Given the description of an element on the screen output the (x, y) to click on. 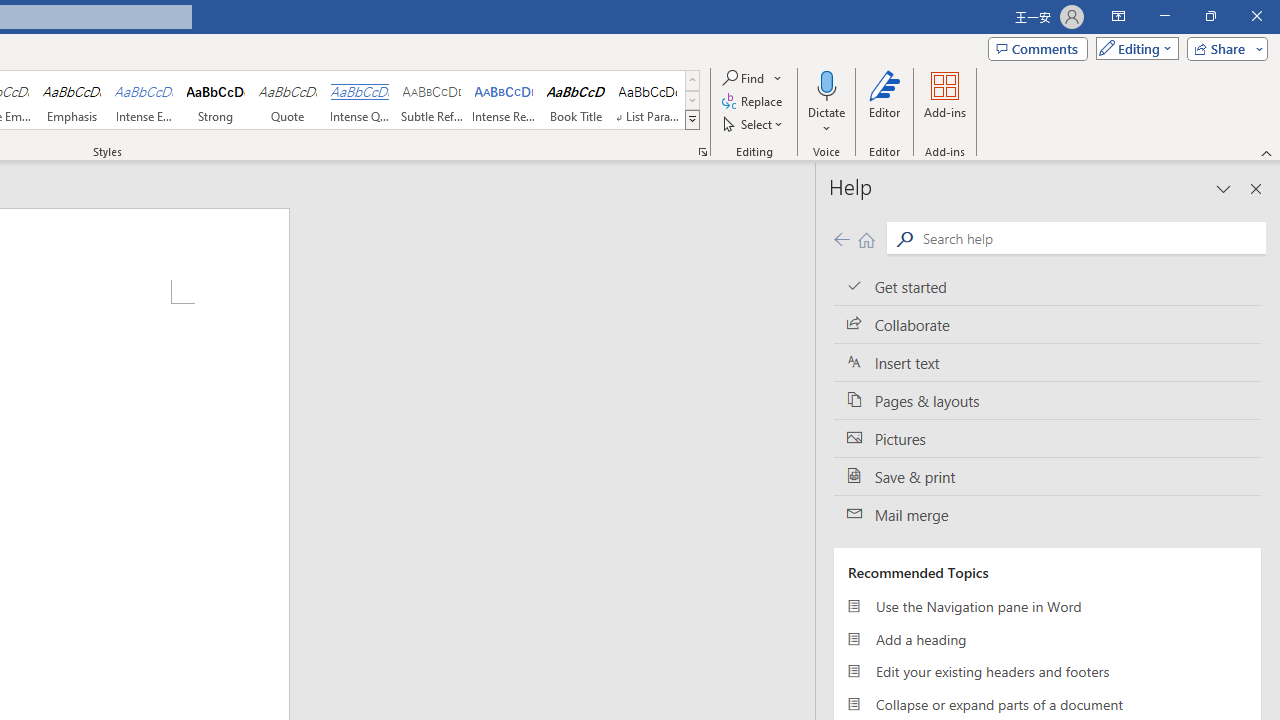
Ribbon Display Options (1118, 16)
Pages & layouts (1047, 400)
Styles... (702, 151)
Styles (692, 120)
Pictures (1047, 438)
Select (754, 124)
Edit your existing headers and footers (1047, 672)
Dictate (826, 84)
Mail merge (1047, 515)
Strong (216, 100)
Restore Down (1210, 16)
Editor (885, 102)
Row Down (692, 100)
Collapse or expand parts of a document (1047, 704)
